Given the description of an element on the screen output the (x, y) to click on. 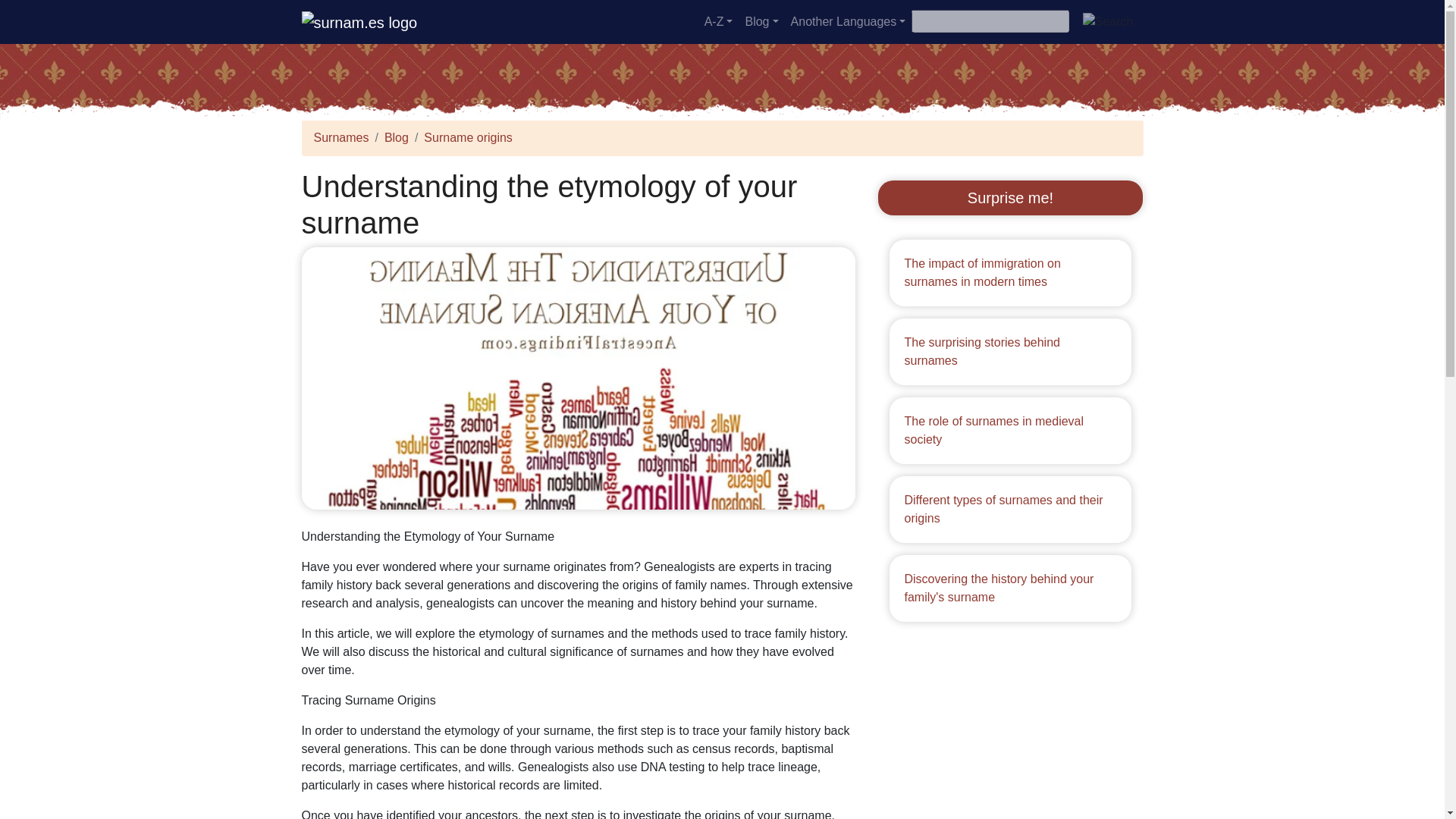
A-Z (718, 21)
Blog (761, 21)
